Given the description of an element on the screen output the (x, y) to click on. 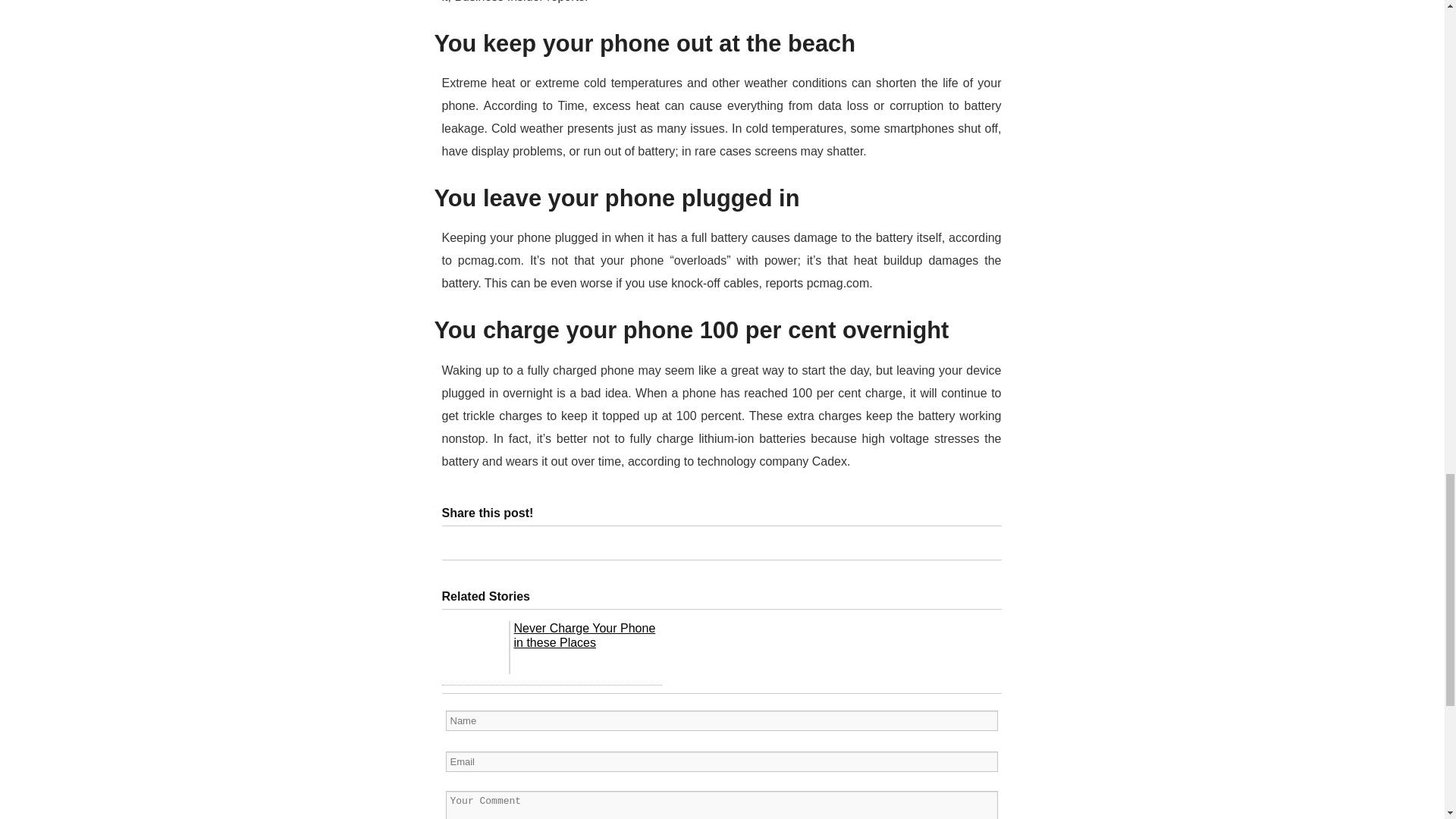
Never Charge Your Phone in these Places (584, 635)
